Given the description of an element on the screen output the (x, y) to click on. 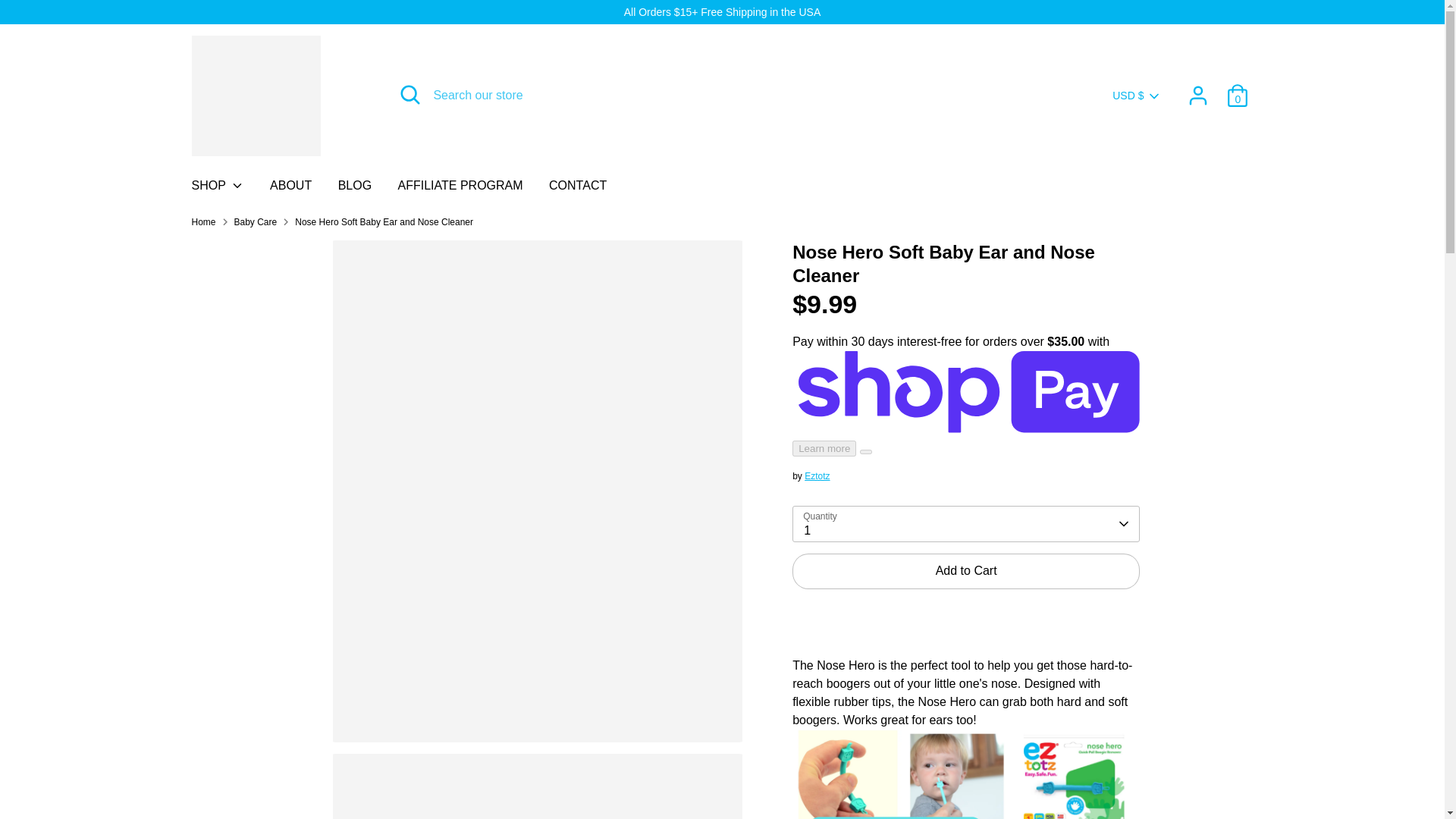
BLOG (354, 189)
0 (1237, 95)
ABOUT (291, 189)
SHOP (218, 189)
